Given the description of an element on the screen output the (x, y) to click on. 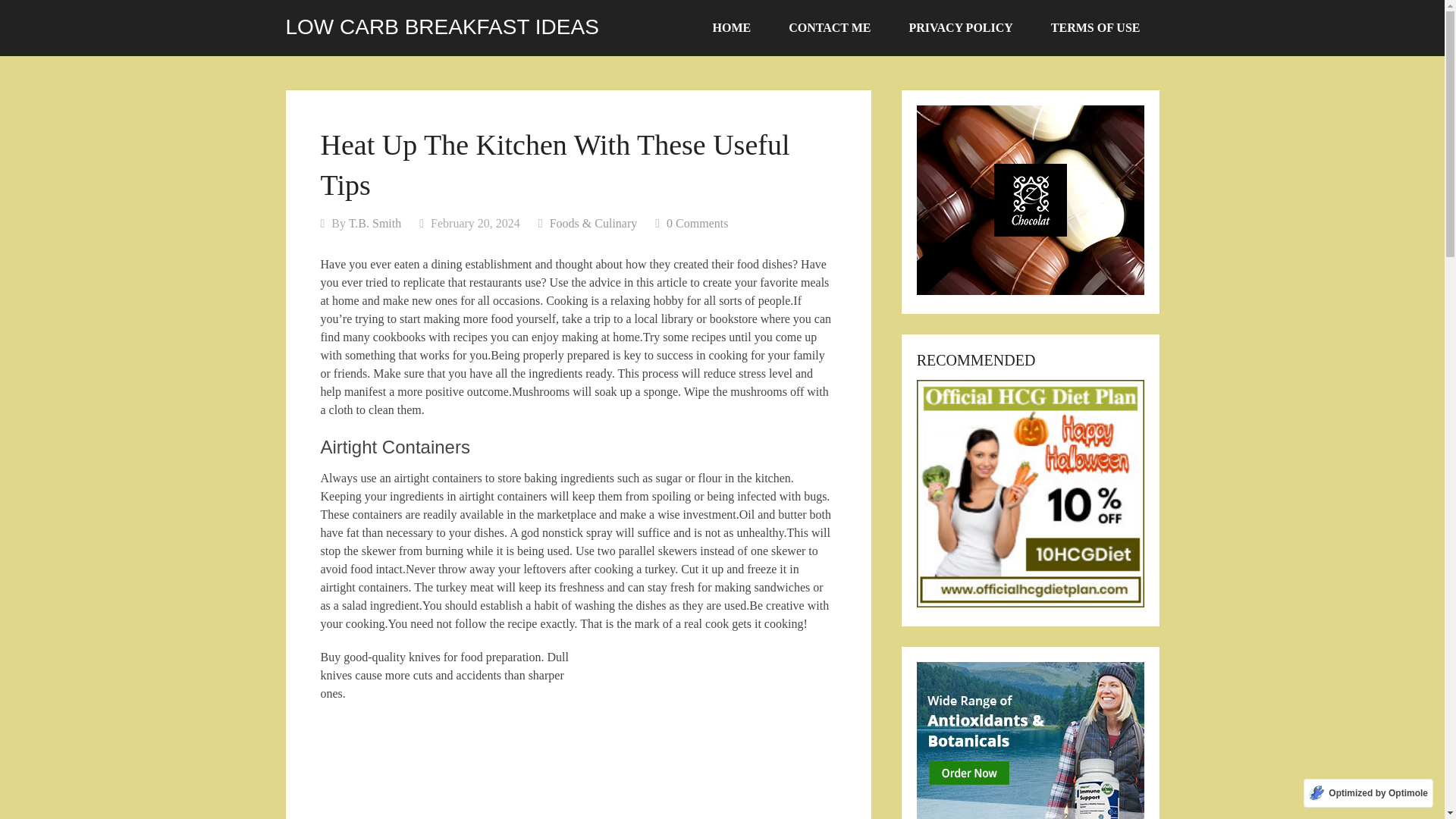
HOME (732, 28)
T.B. Smith (375, 223)
Heat Up The Kitchen With These Useful Tips (705, 737)
Optimized by Optimole (1367, 792)
PRIVACY POLICY (960, 28)
LOW CARB BREAKFAST IDEAS (441, 26)
0 Comments (697, 223)
CONTACT ME (829, 28)
Posts by T.B. Smith (375, 223)
TERMS OF USE (1095, 28)
